Given the description of an element on the screen output the (x, y) to click on. 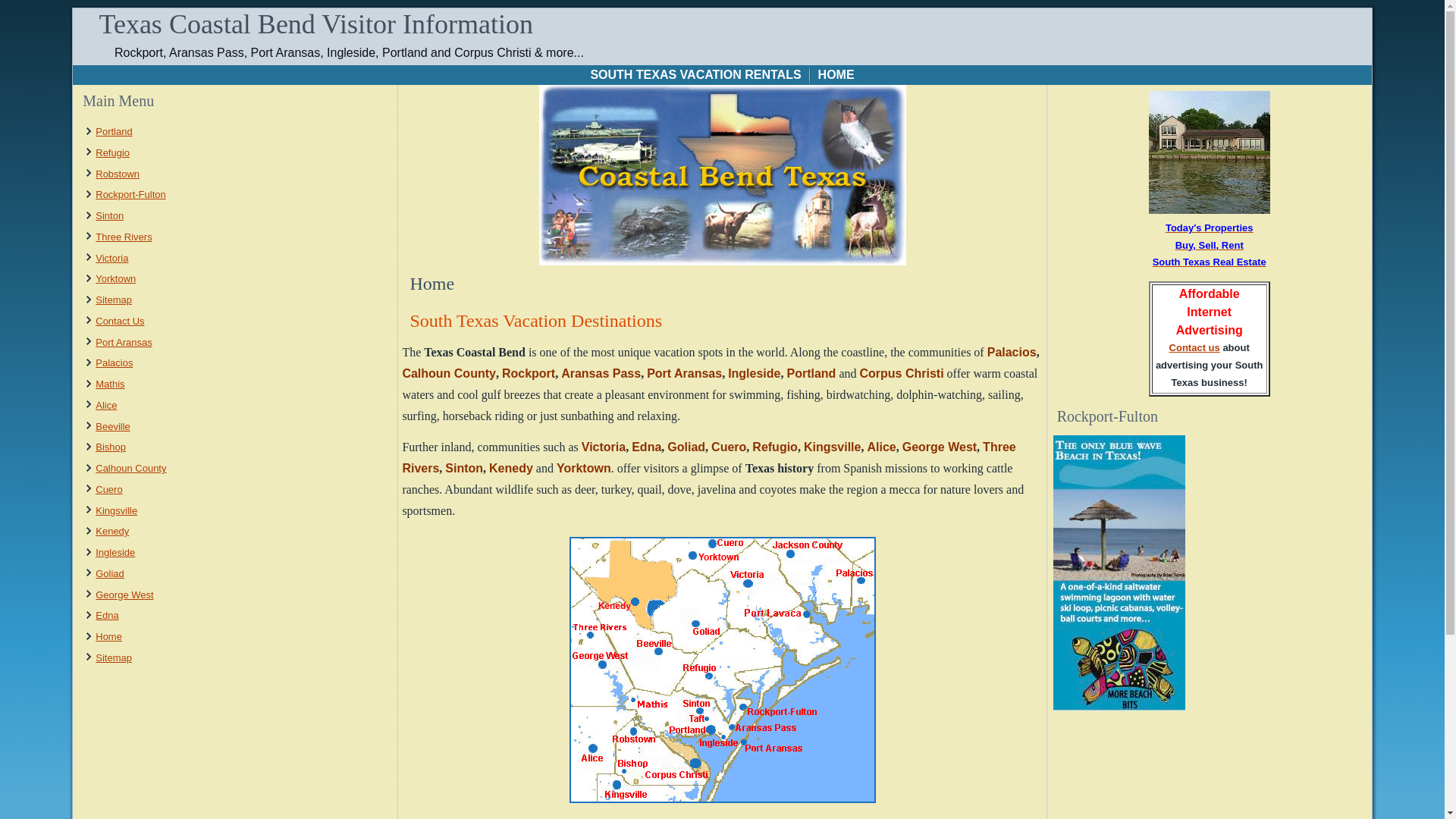
Port Aransas (123, 342)
Yorktown (115, 278)
Ingleside (115, 552)
HOME (835, 75)
Contact Us (120, 320)
Sitemap (114, 299)
Rockport-Fulton Blue Wave Beach (1118, 706)
Palacios (1011, 351)
Mathis (109, 383)
Sinton (109, 215)
